Given the description of an element on the screen output the (x, y) to click on. 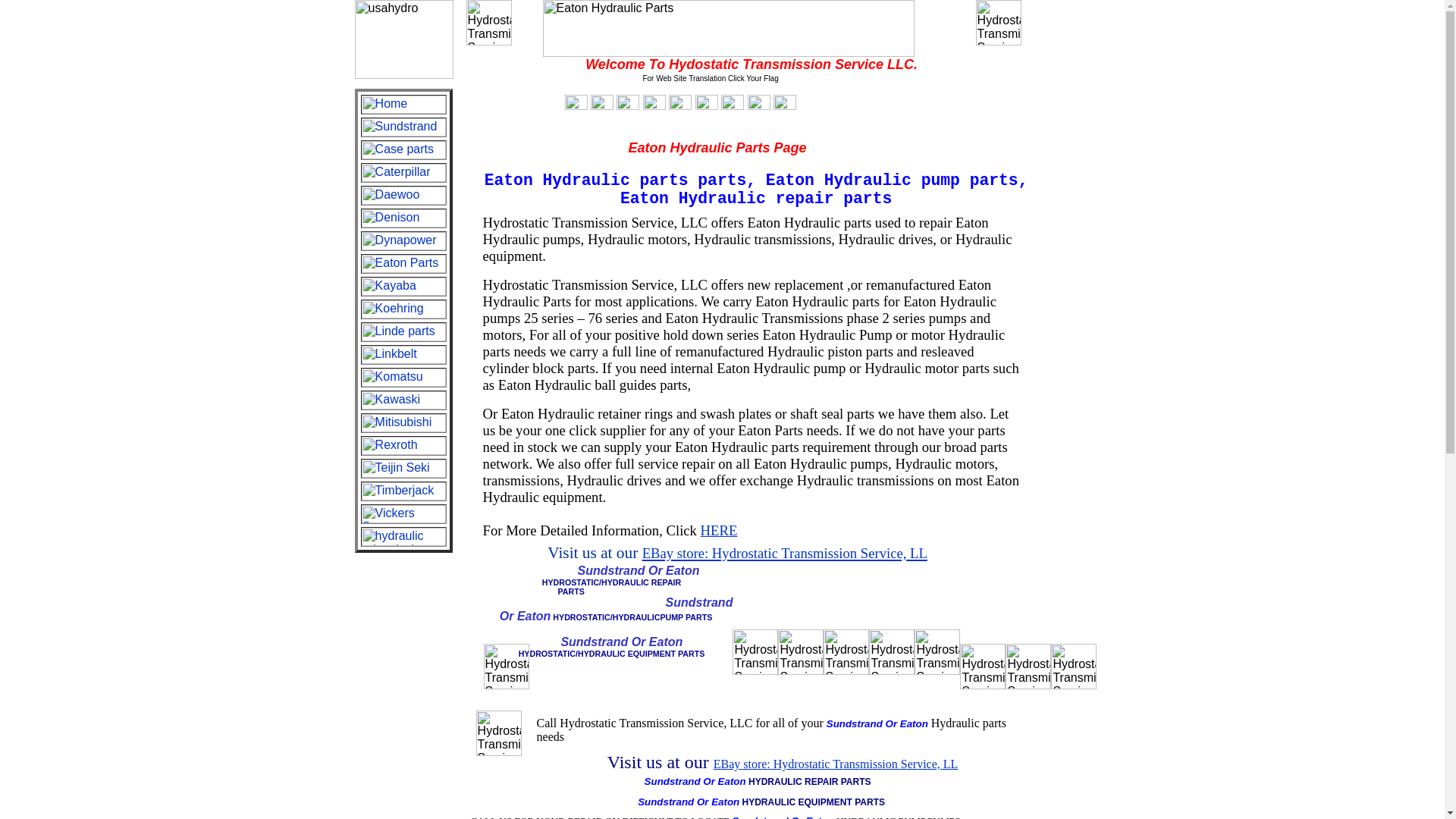
Linkbelt parts (403, 354)
Teijin Seki parts (403, 468)
Denison parts (403, 218)
Kawaski parts (403, 400)
EBay store: Hydrostatic Transmission Service, LL (835, 763)
Vickers Parts (403, 514)
Case parts (403, 149)
Home (403, 104)
Caterpillar parts (403, 172)
Sundstrand  (403, 126)
usahydro (403, 39)
Timberjack parts  (403, 491)
Mitisubishi parts (403, 423)
Koehring parts (403, 309)
HERE (719, 530)
